Given the description of an element on the screen output the (x, y) to click on. 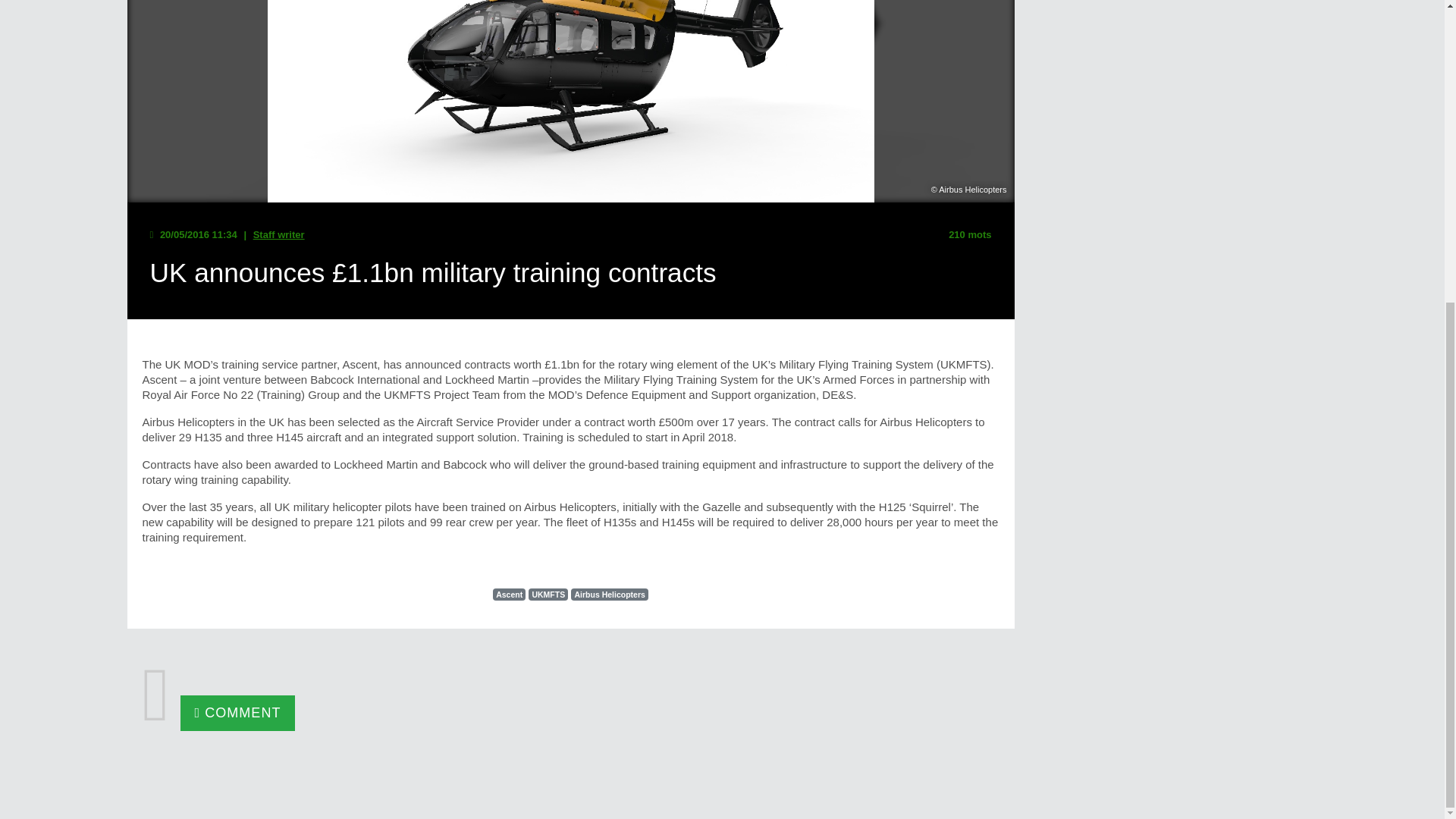
UKMFTS (547, 594)
Ascent (509, 594)
Airbus Helicopters (608, 594)
COMMENT (237, 713)
Staff writer (278, 234)
